Given the description of an element on the screen output the (x, y) to click on. 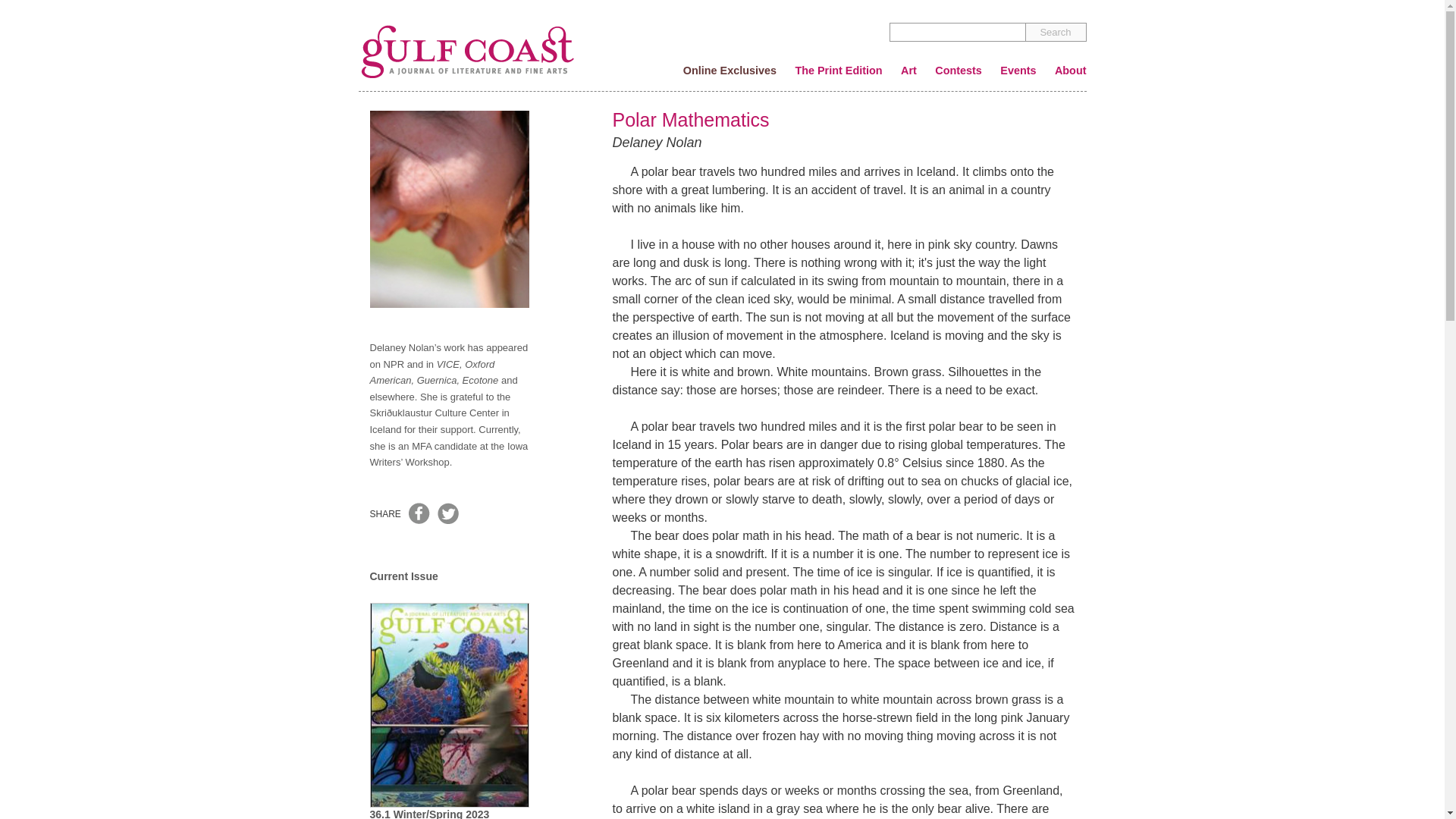
Search (1055, 31)
Search (1055, 31)
